Given the description of an element on the screen output the (x, y) to click on. 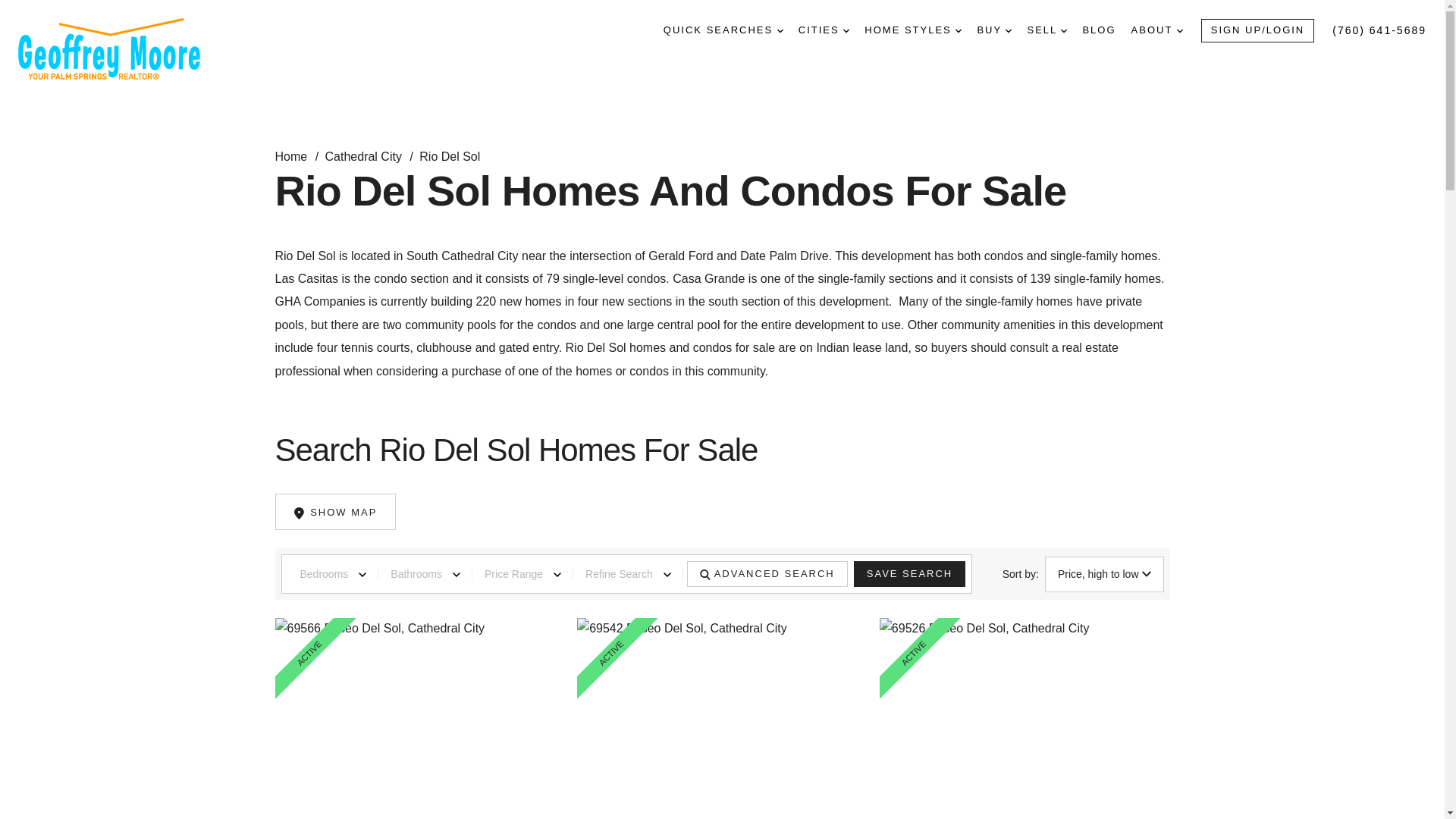
CITIES DROPDOWN ARROW (823, 30)
HOME STYLES DROPDOWN ARROW (912, 30)
DROPDOWN ARROW (1008, 30)
DROPDOWN ARROW (1179, 30)
DROPDOWN ARROW (780, 30)
DROPDOWN ARROW (957, 30)
DROPDOWN ARROW (1064, 30)
DROPDOWN ARROW (845, 30)
QUICK SEARCHES DROPDOWN ARROW (723, 30)
